Given the description of an element on the screen output the (x, y) to click on. 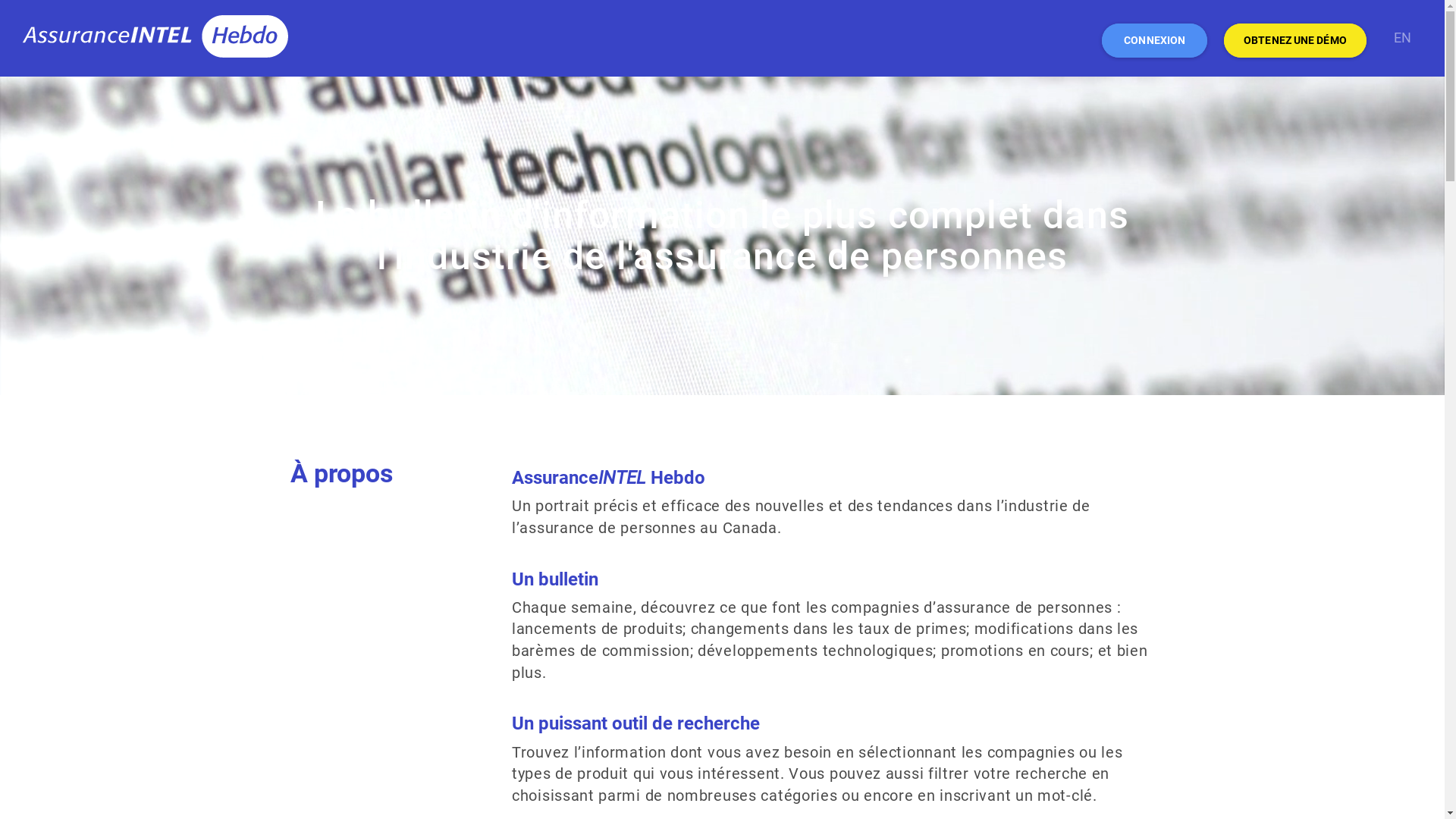
CONNEXION Element type: text (1154, 40)
EN Element type: text (1402, 40)
